Given the description of an element on the screen output the (x, y) to click on. 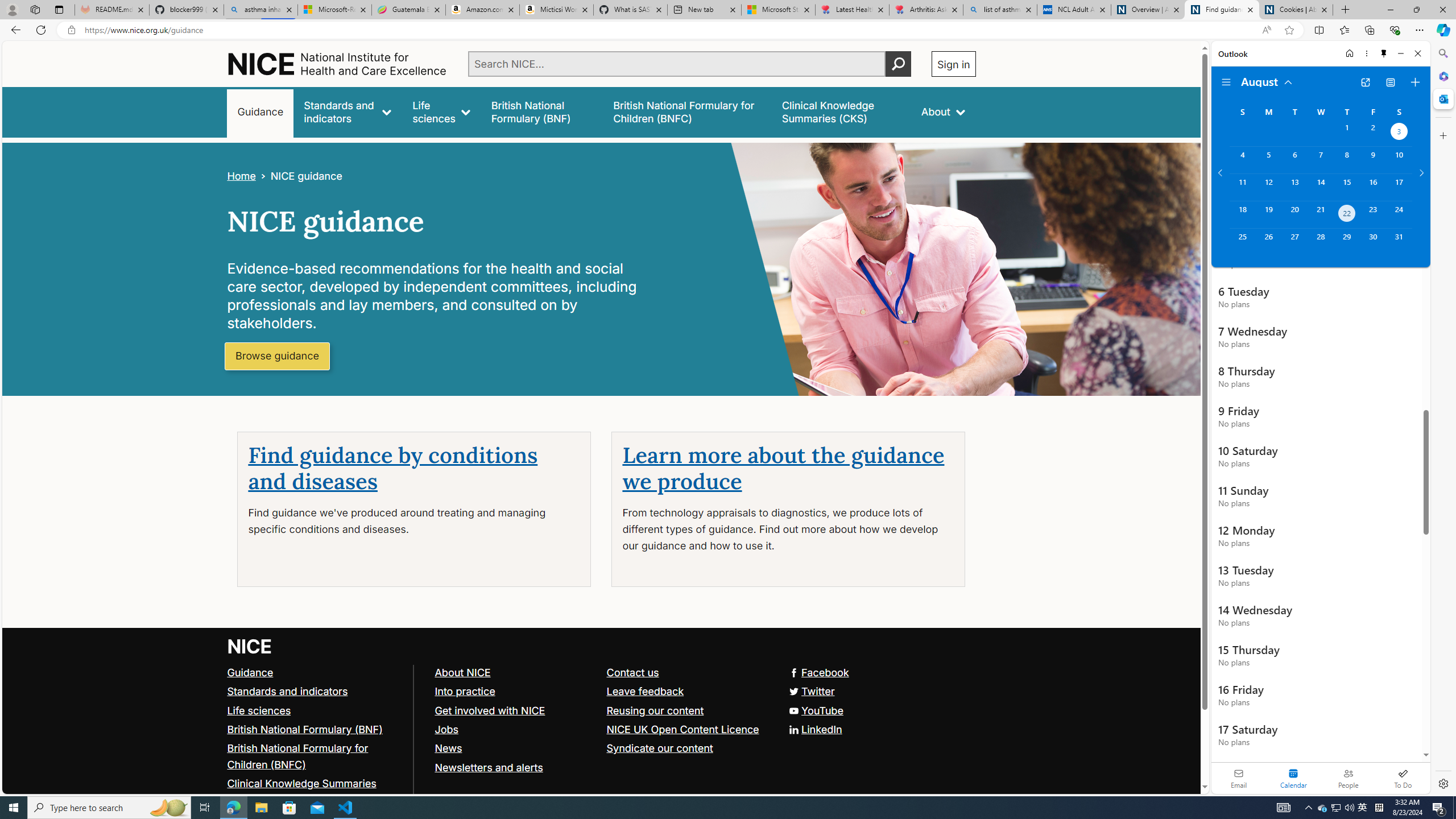
Twitter (810, 690)
Wednesday, August 28, 2024.  (1320, 241)
Wednesday, August 21, 2024.  (1320, 214)
Create event (1414, 82)
Folder navigation (1225, 82)
Wednesday, August 14, 2024.  (1320, 186)
Saturday, August 17, 2024.  (1399, 186)
Tuesday, August 13, 2024.  (1294, 186)
